Given the description of an element on the screen output the (x, y) to click on. 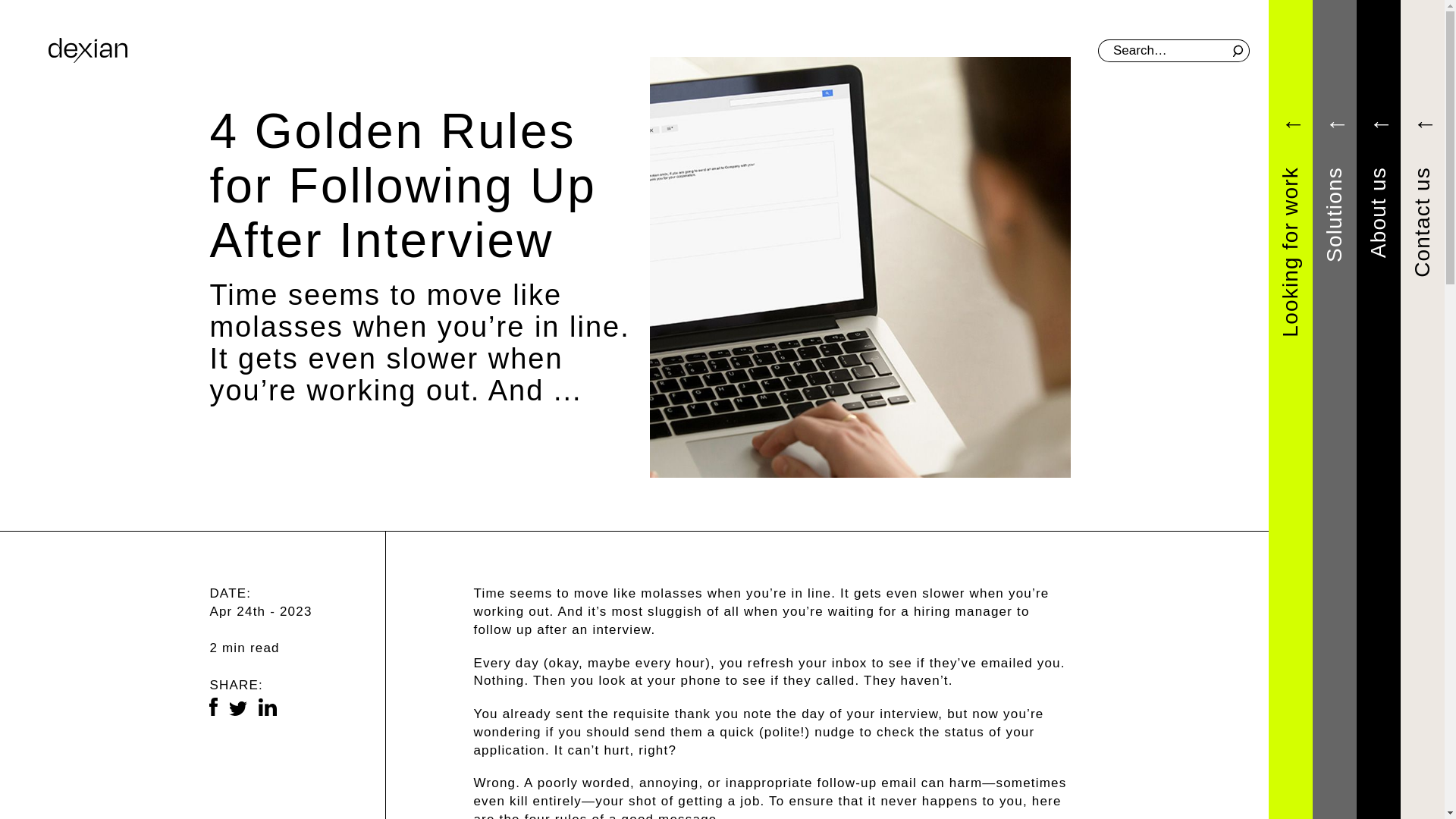
Facebook (212, 706)
Search (1235, 49)
Twitter (237, 708)
Linkedin (267, 706)
Search (1235, 49)
Search for: (1173, 50)
Search (1235, 49)
